Given the description of an element on the screen output the (x, y) to click on. 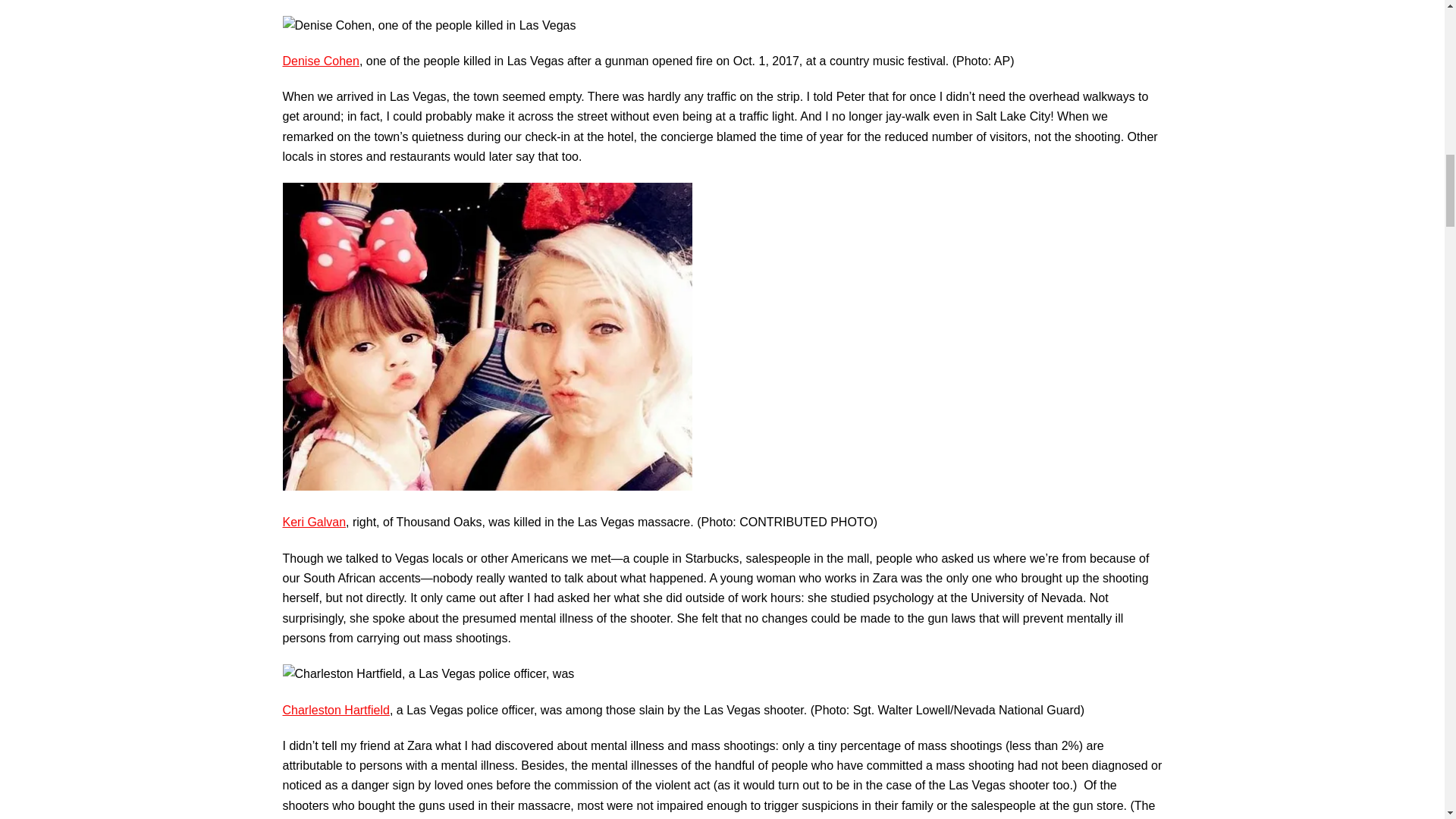
Keri Galvan (314, 521)
Denise Cohen (320, 60)
Charleston Hartfield (335, 709)
